Given the description of an element on the screen output the (x, y) to click on. 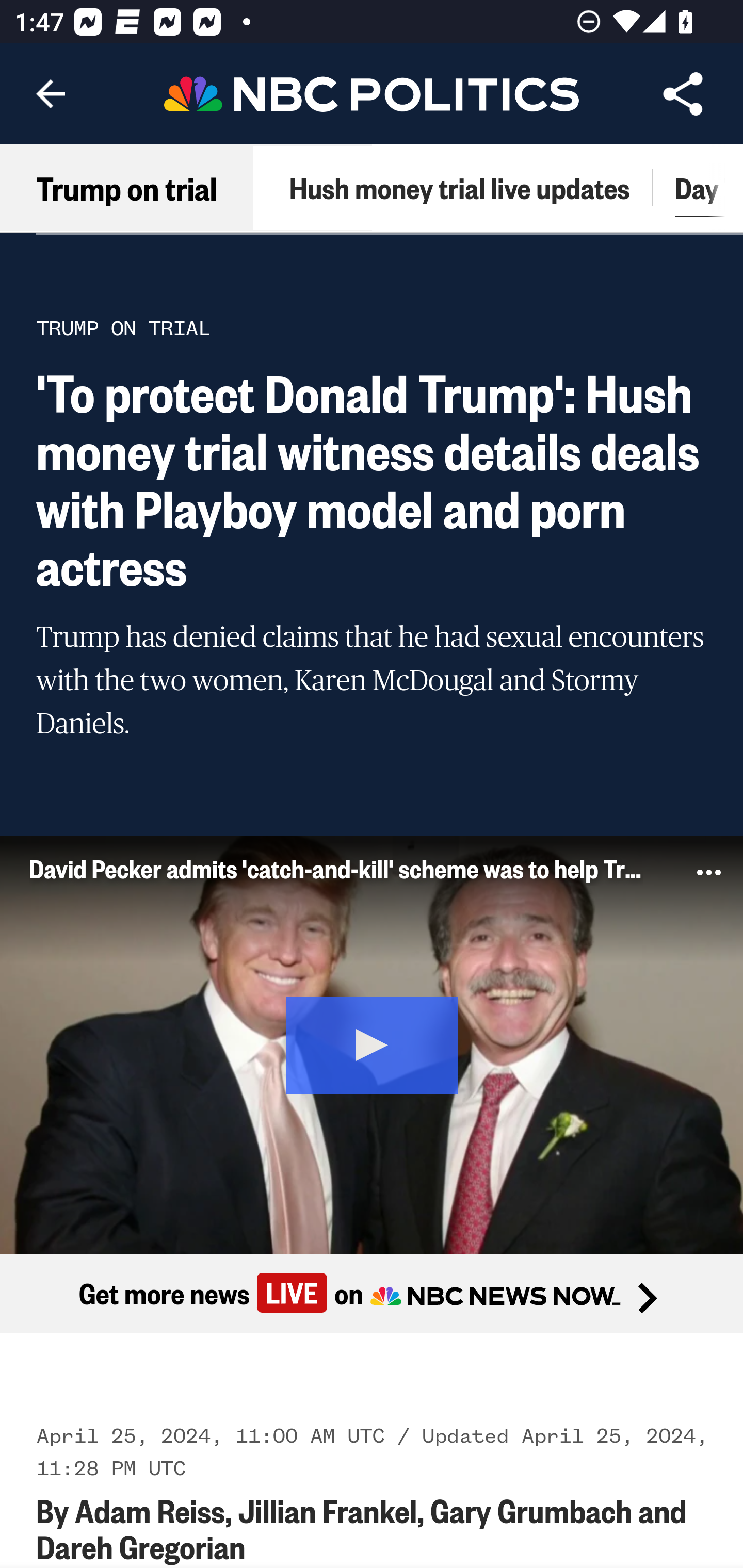
Navigate up (50, 93)
Share Article, button (683, 94)
Header, NBC Politics (371, 93)
Hush money trial live updates (459, 186)
Trump on trial (127, 187)
TRUMP ON TRIAL (123, 326)
Video Player Unable to play media. Play   (371, 1044)
Play (372, 1042)
Get more news Live on Get more news Live on (371, 1293)
Jillian Frankel (327, 1509)
Gary Grumbach (531, 1509)
Dareh Gregorian (140, 1546)
